Given the description of an element on the screen output the (x, y) to click on. 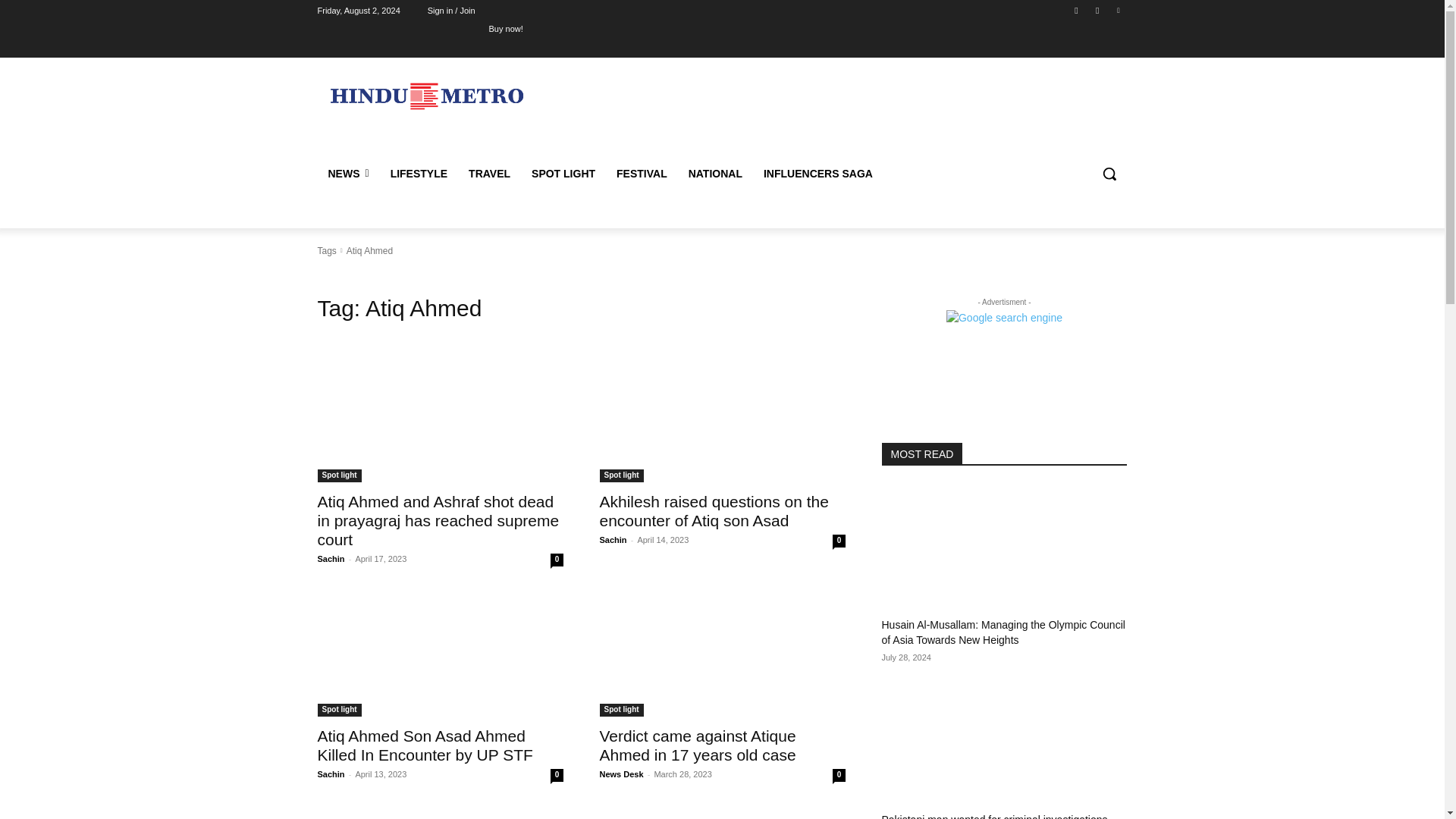
NEWS (347, 173)
Instagram (1097, 9)
Twitter (1117, 9)
Facebook (1075, 9)
Buy now! (505, 28)
